Given the description of an element on the screen output the (x, y) to click on. 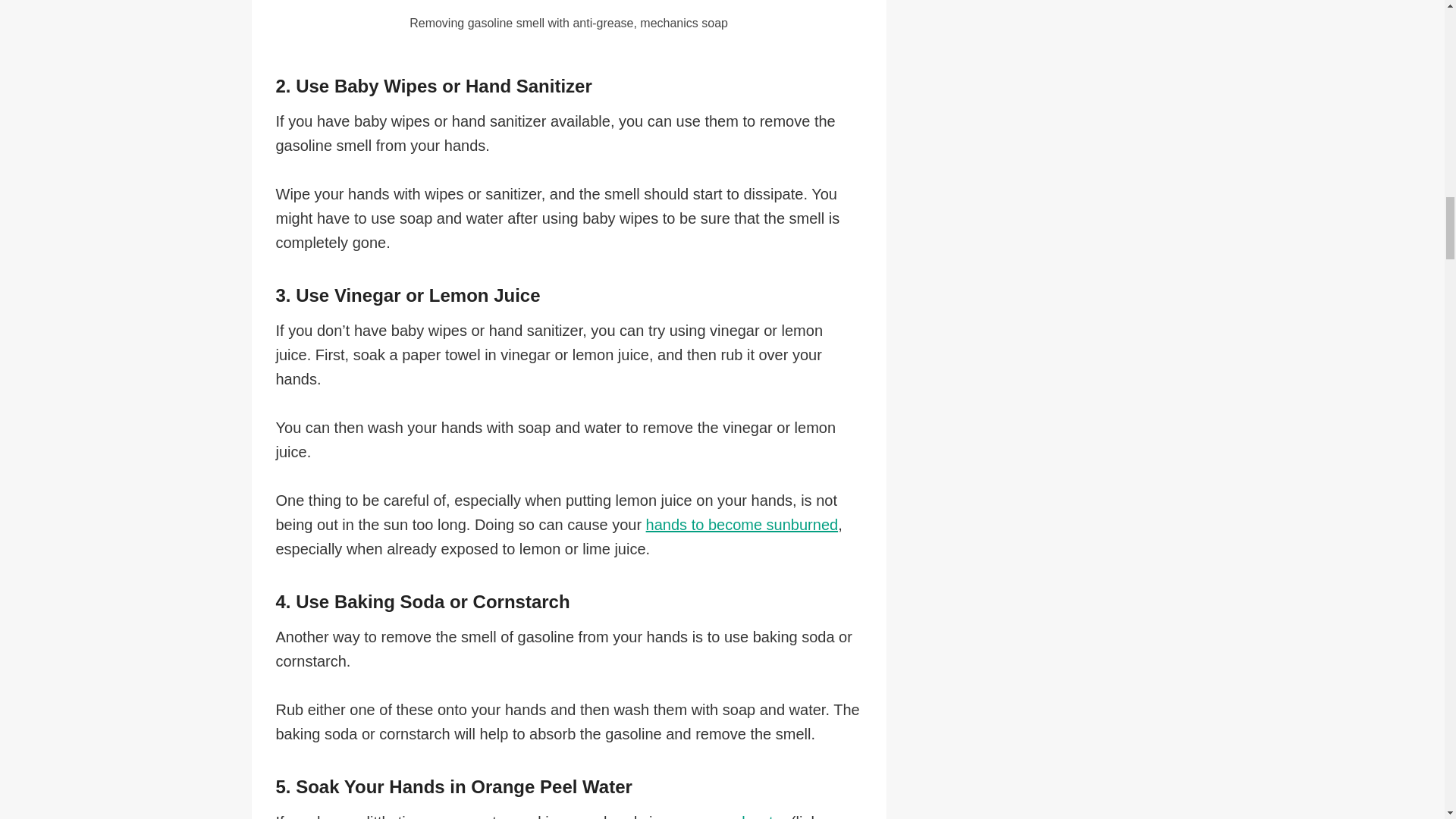
hands to become sunburned (742, 524)
orange peel water (725, 816)
